Given the description of an element on the screen output the (x, y) to click on. 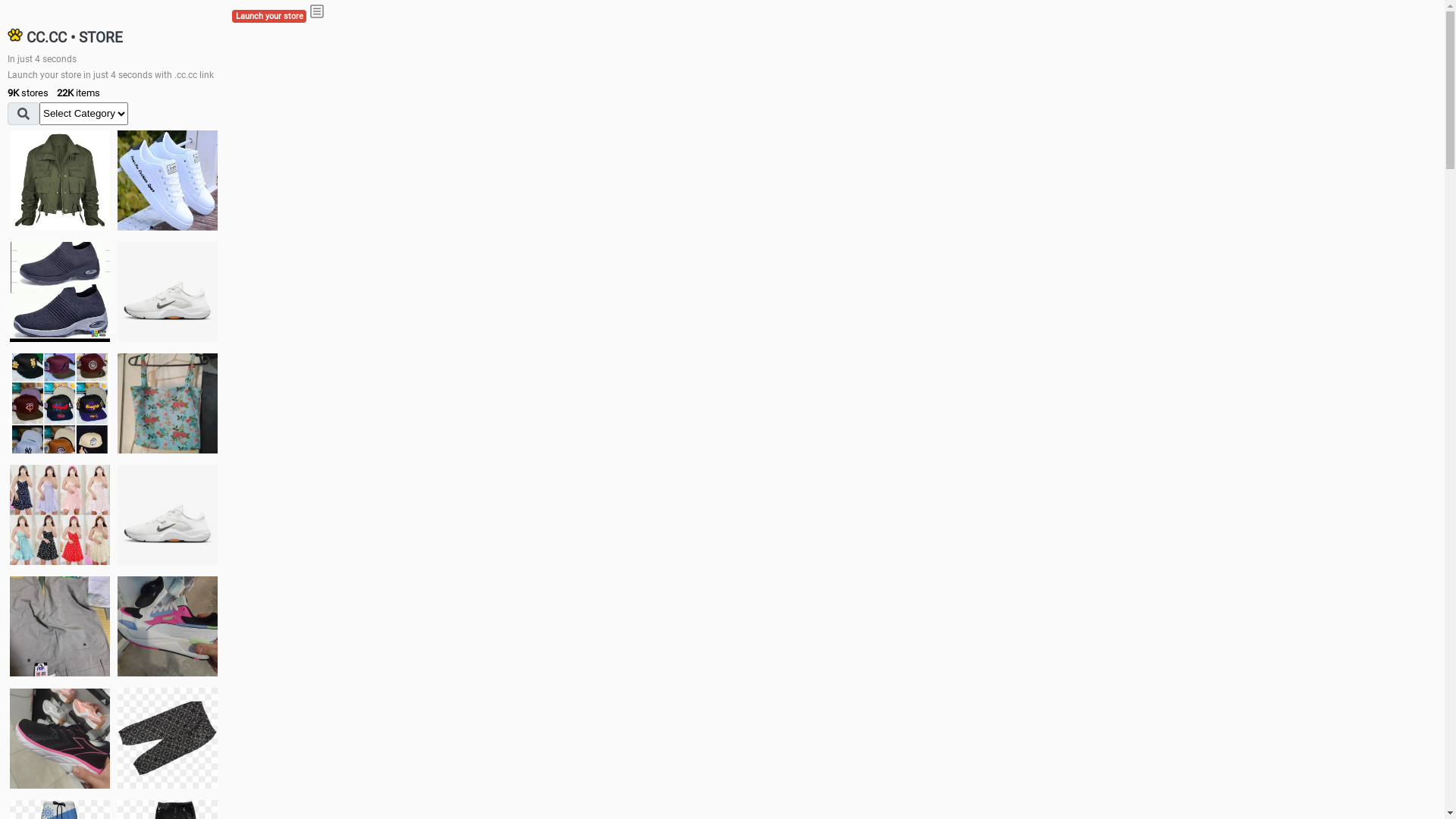
shoes for boys Element type: hover (59, 291)
jacket Element type: hover (59, 180)
Zapatillas Element type: hover (59, 738)
Ukay cloth Element type: hover (167, 403)
Dress/square nect top Element type: hover (59, 514)
white shoes Element type: hover (167, 180)
Short pant Element type: hover (167, 737)
Shoes for boys Element type: hover (167, 291)
Launch your store Element type: text (269, 15)
Things we need Element type: hover (59, 403)
Shoes Element type: hover (167, 514)
Zapatillas pumas Element type: hover (167, 626)
